Given the description of an element on the screen output the (x, y) to click on. 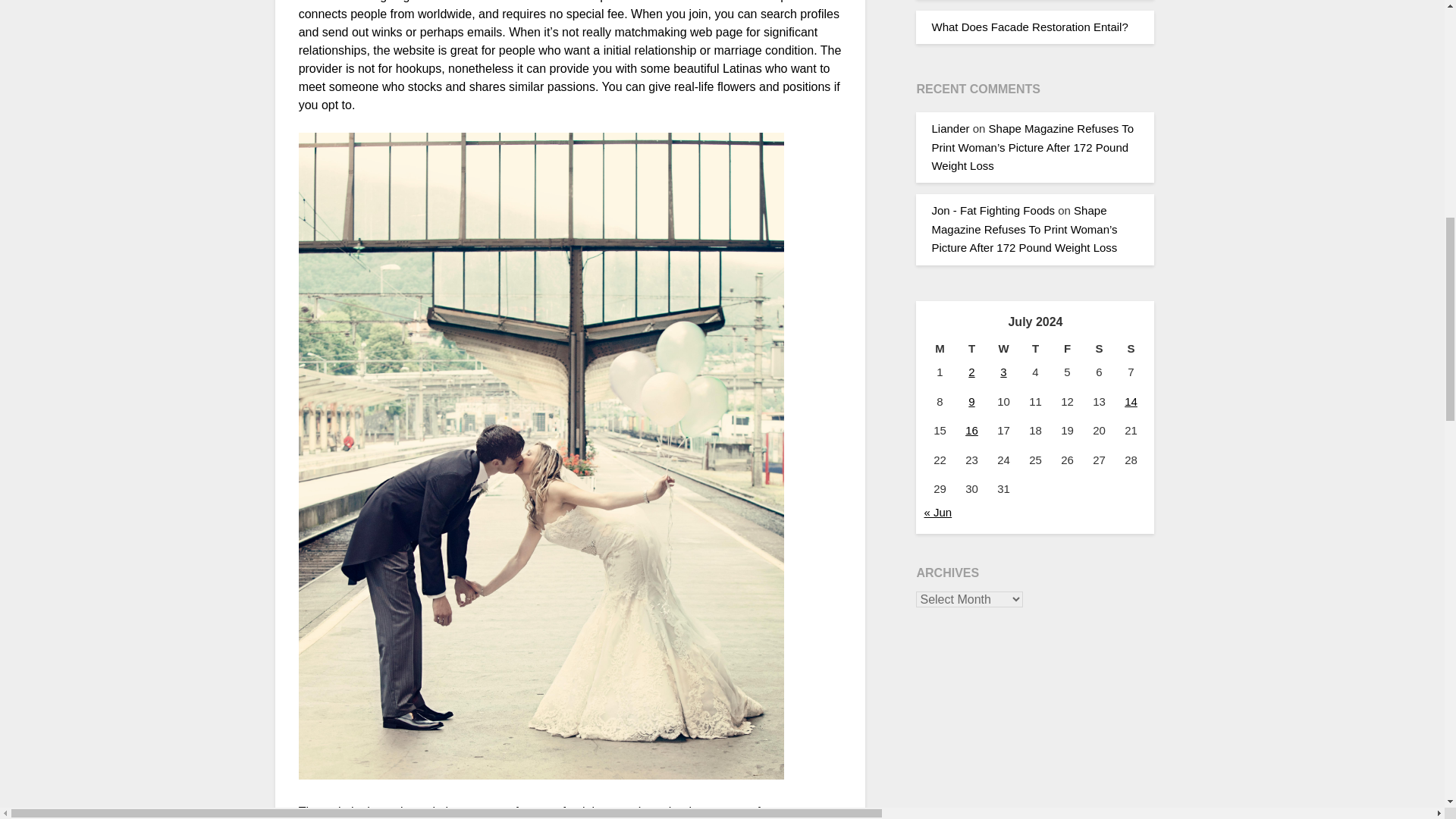
Jon - Fat Fighting Foods (992, 210)
Friday (1067, 348)
Sunday (1131, 348)
Liander (950, 128)
9 (971, 400)
3 (1003, 371)
Wednesday (1003, 348)
Tuesday (971, 348)
What Does Facade Restoration Entail? (1028, 26)
16 (971, 430)
Monday (939, 348)
Saturday (1099, 348)
14 (1130, 400)
2 (971, 371)
Thursday (1035, 348)
